Given the description of an element on the screen output the (x, y) to click on. 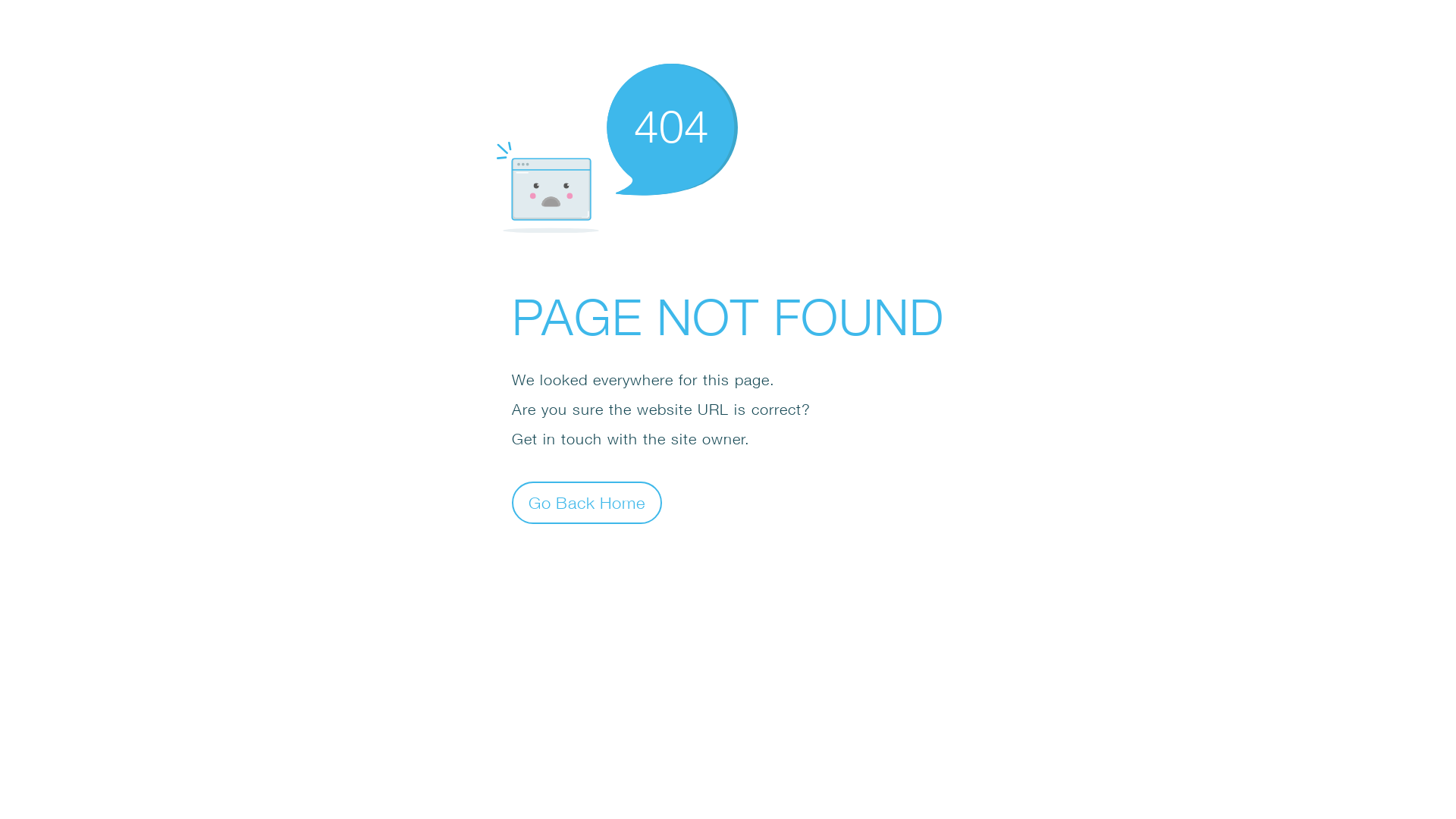
Go Back Home Element type: text (586, 502)
